Given the description of an element on the screen output the (x, y) to click on. 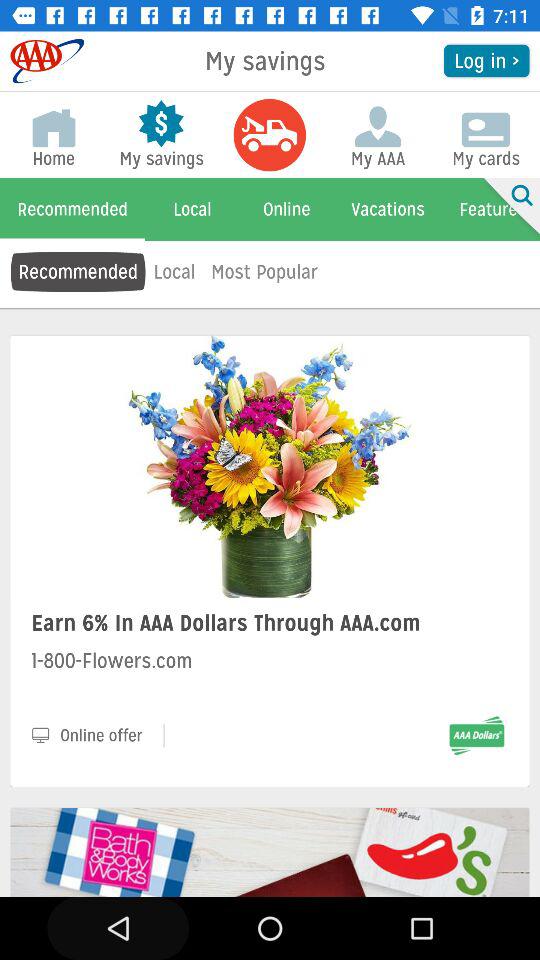
press the icon next to the my savings (486, 60)
